Given the description of an element on the screen output the (x, y) to click on. 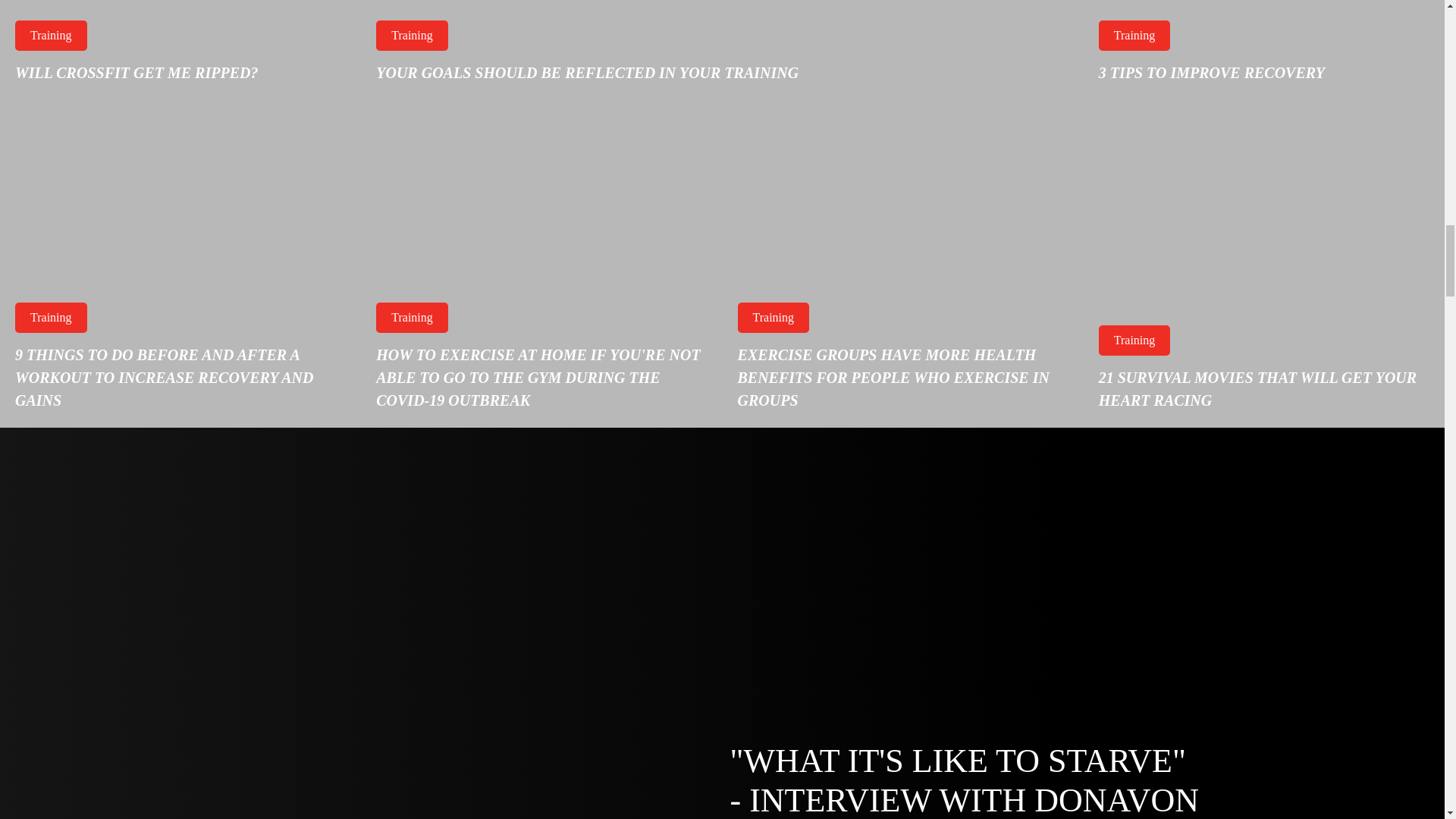
Your Goals Should Be Reflected In Your Training (722, 49)
Will Crossfit Get Me Ripped (180, 49)
